Given the description of an element on the screen output the (x, y) to click on. 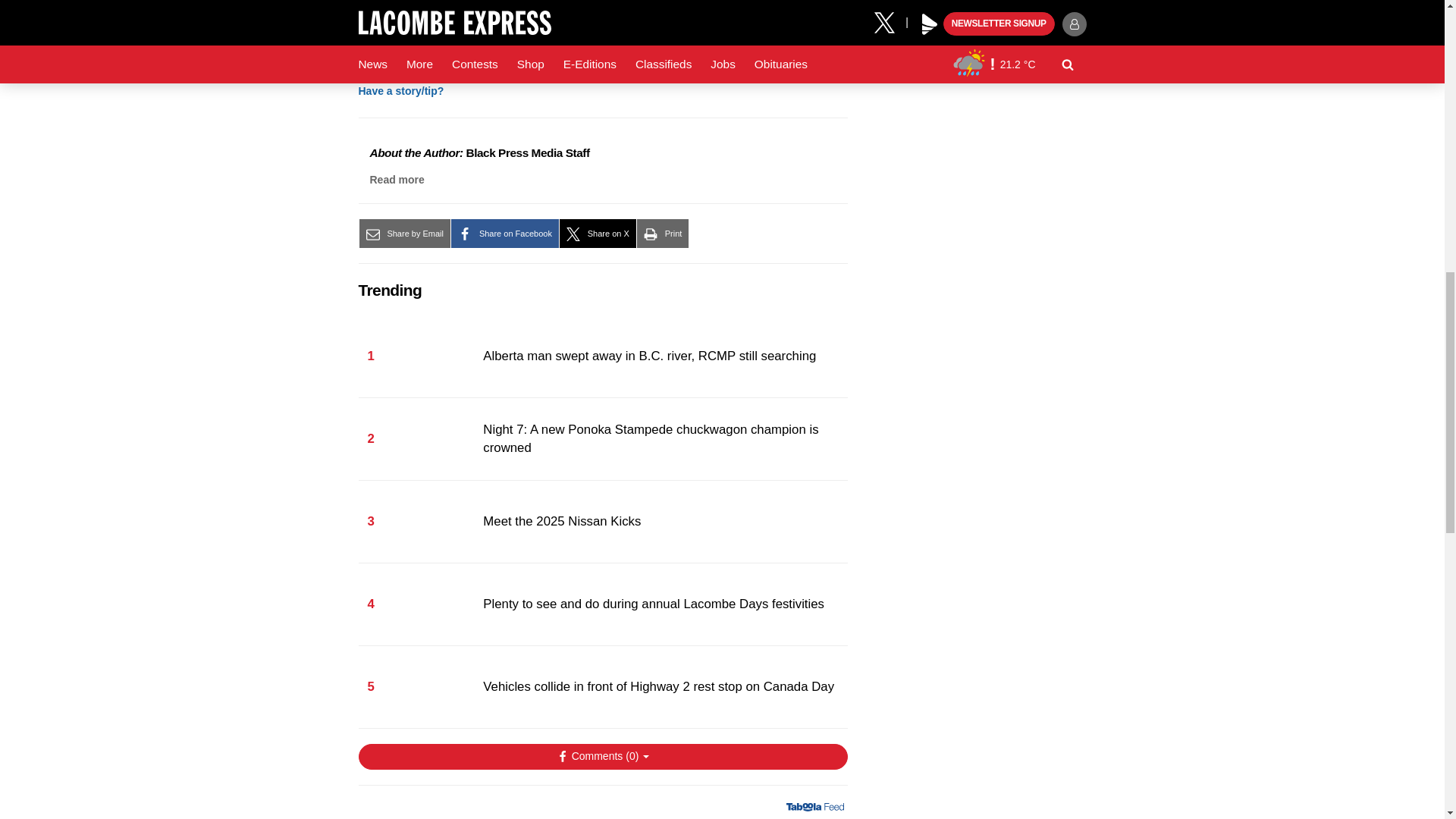
Show Comments (602, 756)
